Given the description of an element on the screen output the (x, y) to click on. 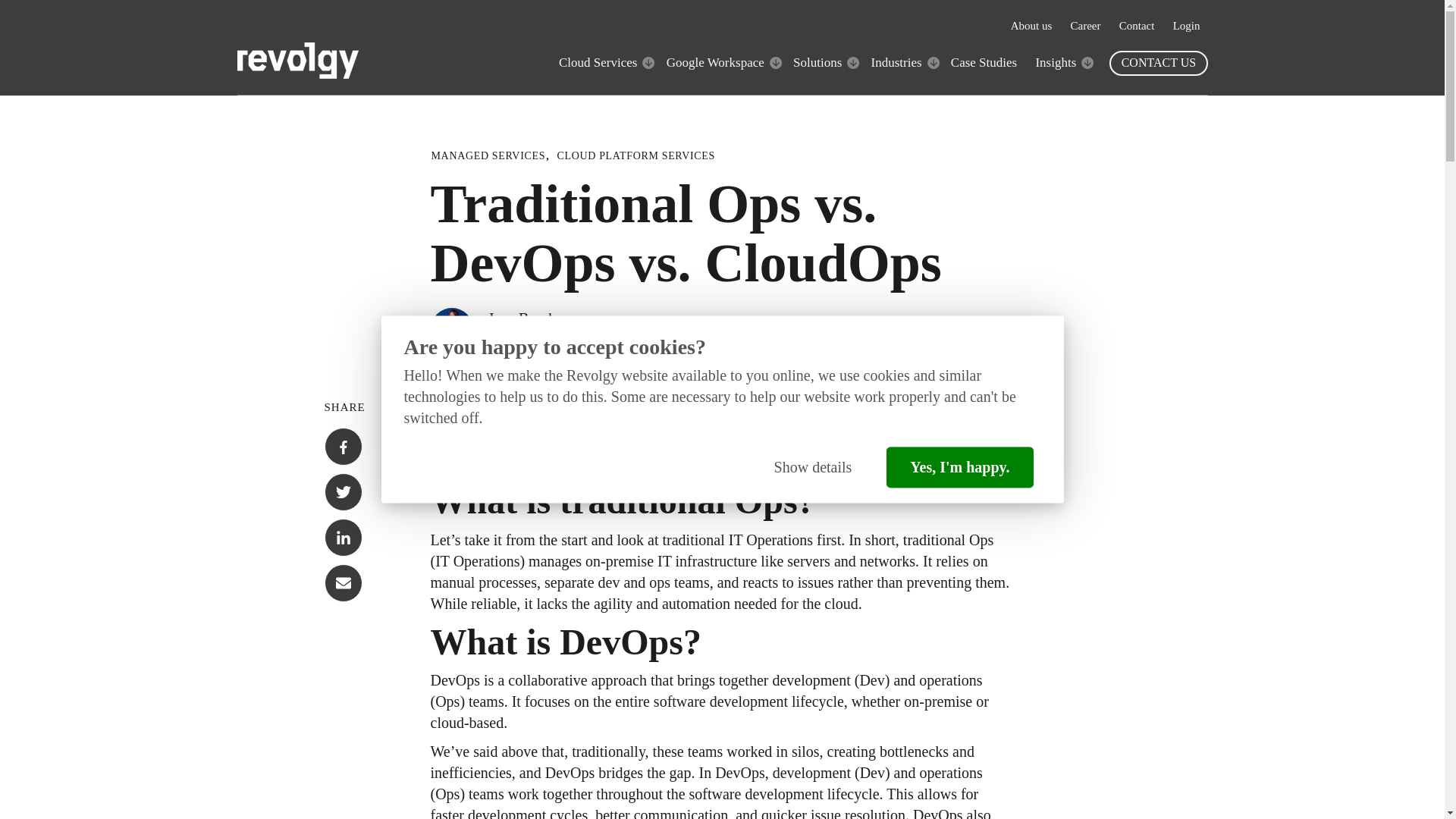
Case Studies (983, 62)
Login (1186, 25)
Yes, I'm happy. (959, 467)
About us (1031, 25)
Show details (813, 467)
Contact (1136, 25)
Career (1085, 25)
Google Workspace (715, 62)
Industries (895, 62)
Cloud Services (598, 62)
Solutions (817, 62)
Insights (1055, 62)
